Given the description of an element on the screen output the (x, y) to click on. 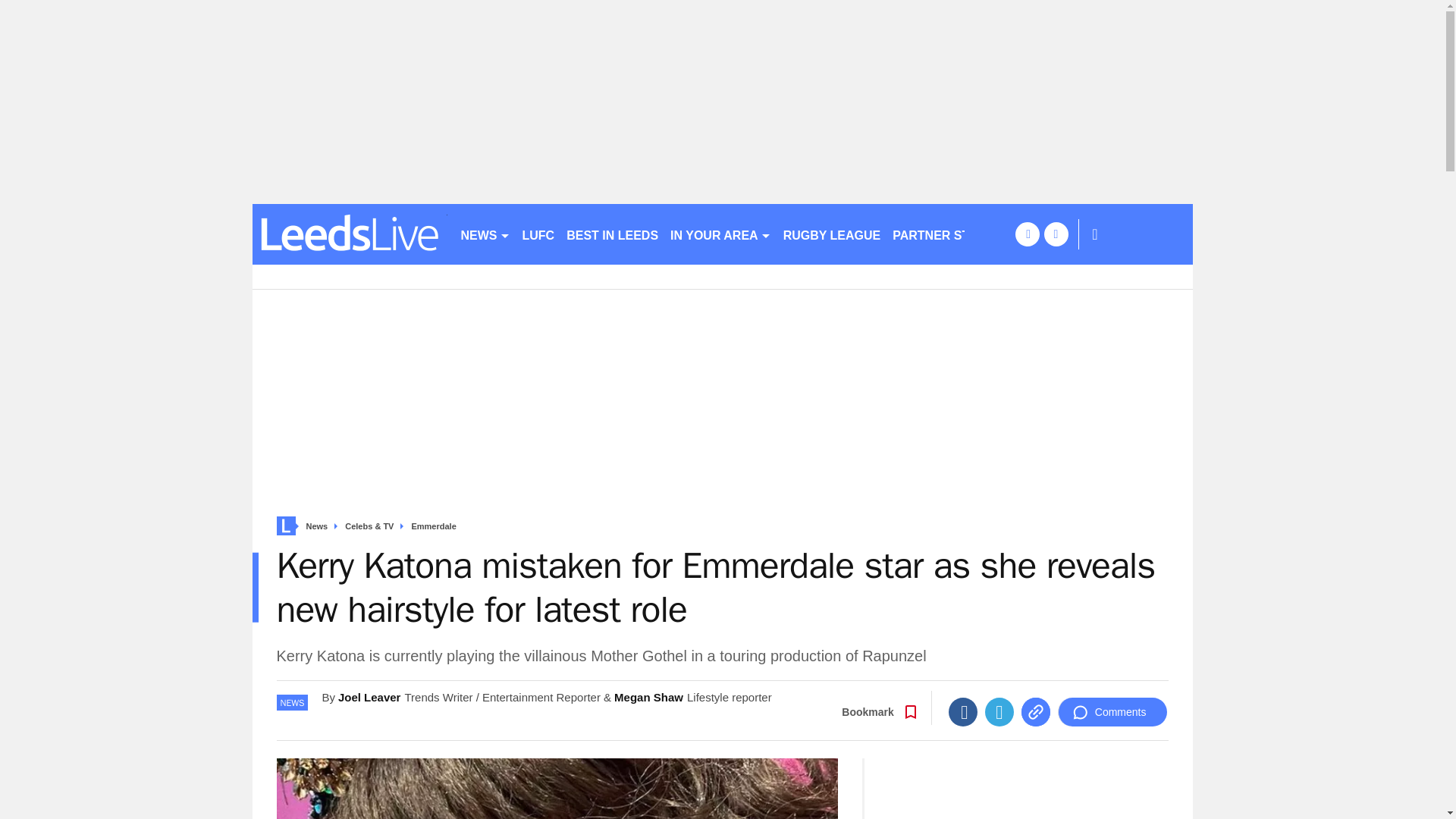
NEWS (485, 233)
twitter (1055, 233)
Comments (1112, 711)
PARTNER STORIES (949, 233)
Twitter (999, 711)
IN YOUR AREA (720, 233)
leedslive (348, 233)
RUGBY LEAGUE (831, 233)
BEST IN LEEDS (611, 233)
facebook (1026, 233)
